Given the description of an element on the screen output the (x, y) to click on. 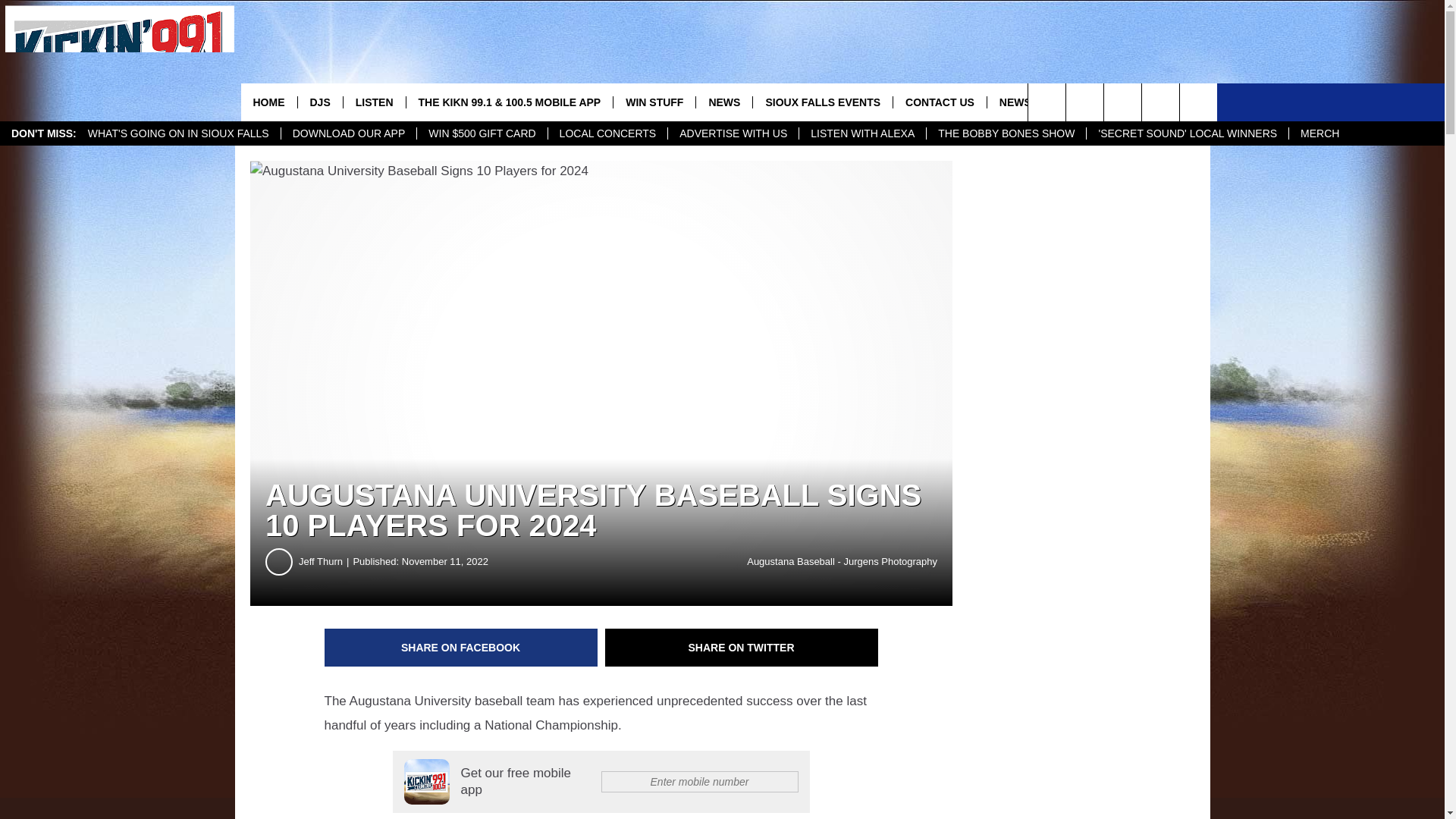
DOWNLOAD OUR APP (348, 133)
ADVERTISE WITH US (731, 133)
THE BOBBY BONES SHOW (1006, 133)
WHAT'S GOING ON IN SIOUX FALLS (179, 133)
WIN STUFF (653, 102)
DJS (319, 102)
LOCAL CONCERTS (607, 133)
HOME (269, 102)
LISTEN WITH ALEXA (861, 133)
NEWS (723, 102)
LISTEN (374, 102)
'SECRET SOUND' LOCAL WINNERS (1187, 133)
Share on Facebook (460, 647)
MERCH (1319, 133)
Share on Twitter (741, 647)
